Given the description of an element on the screen output the (x, y) to click on. 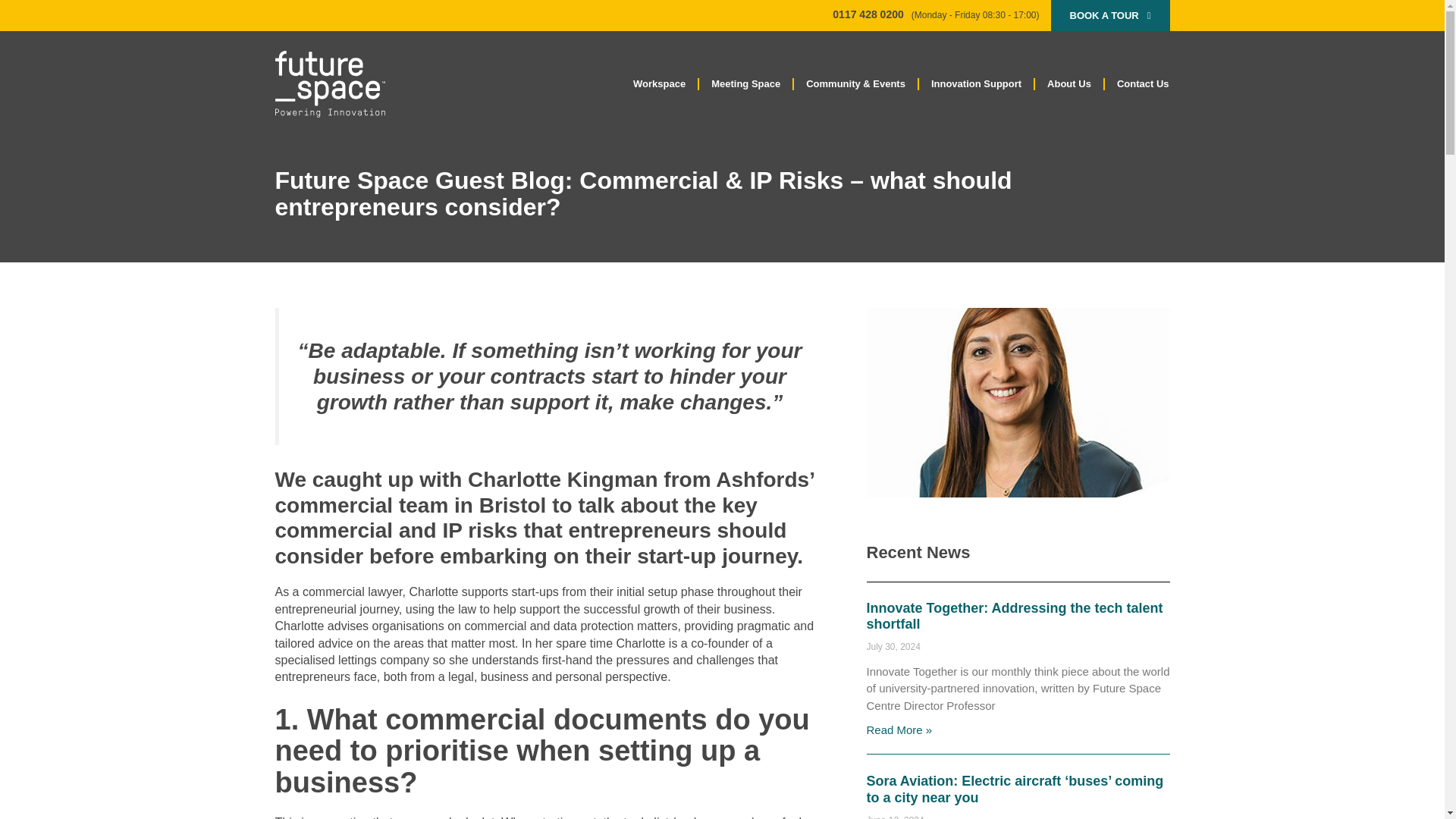
Innovation Support (975, 83)
Workspace (659, 83)
Meeting Space (745, 83)
Innovate Together: Addressing the tech talent shortfall (1013, 616)
Contact Us (1142, 83)
BOOK A TOUR (1110, 15)
About Us (1069, 83)
0117 428 0200 (867, 13)
